Given the description of an element on the screen output the (x, y) to click on. 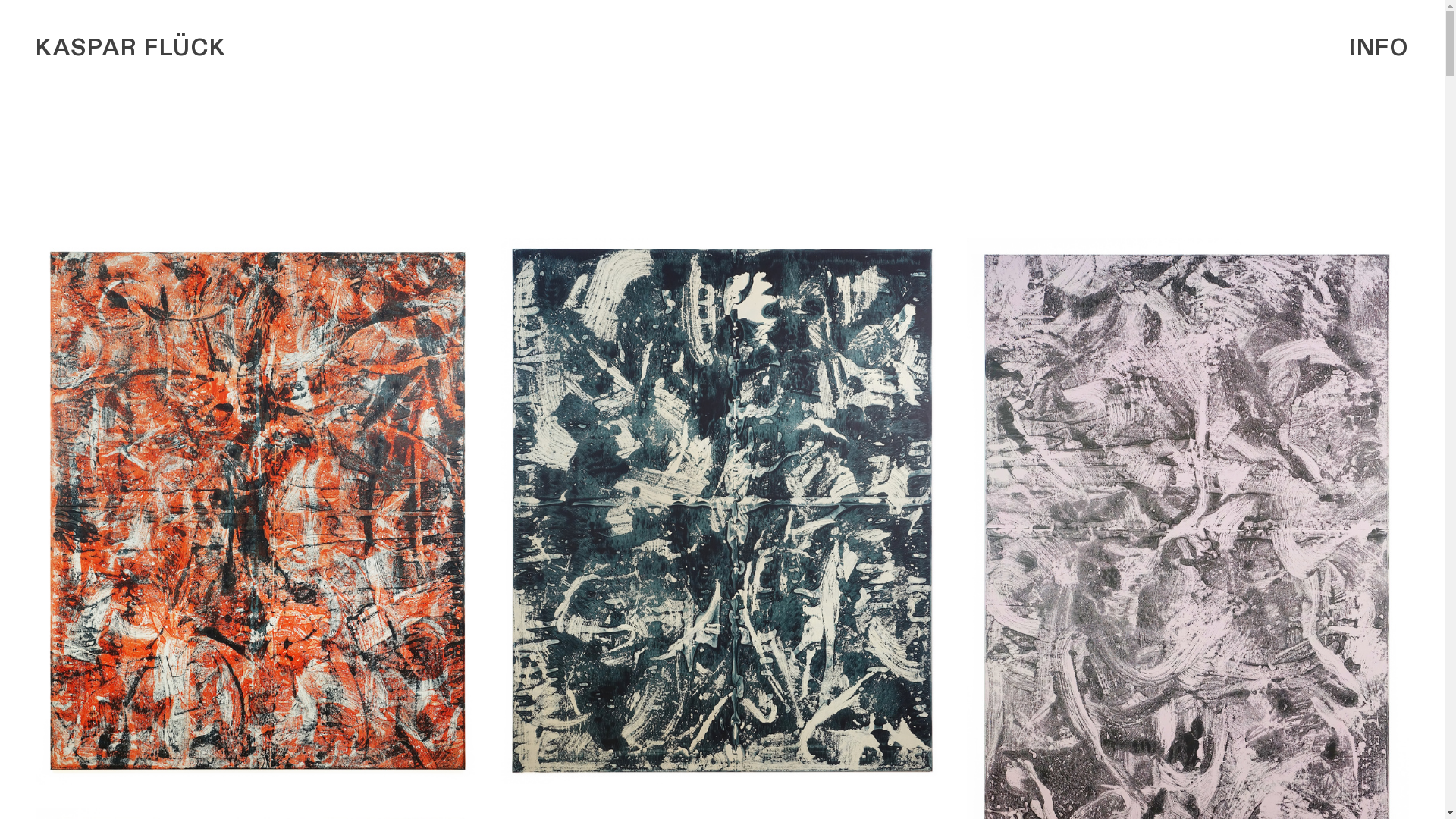
INFO Element type: text (1378, 47)
